Given the description of an element on the screen output the (x, y) to click on. 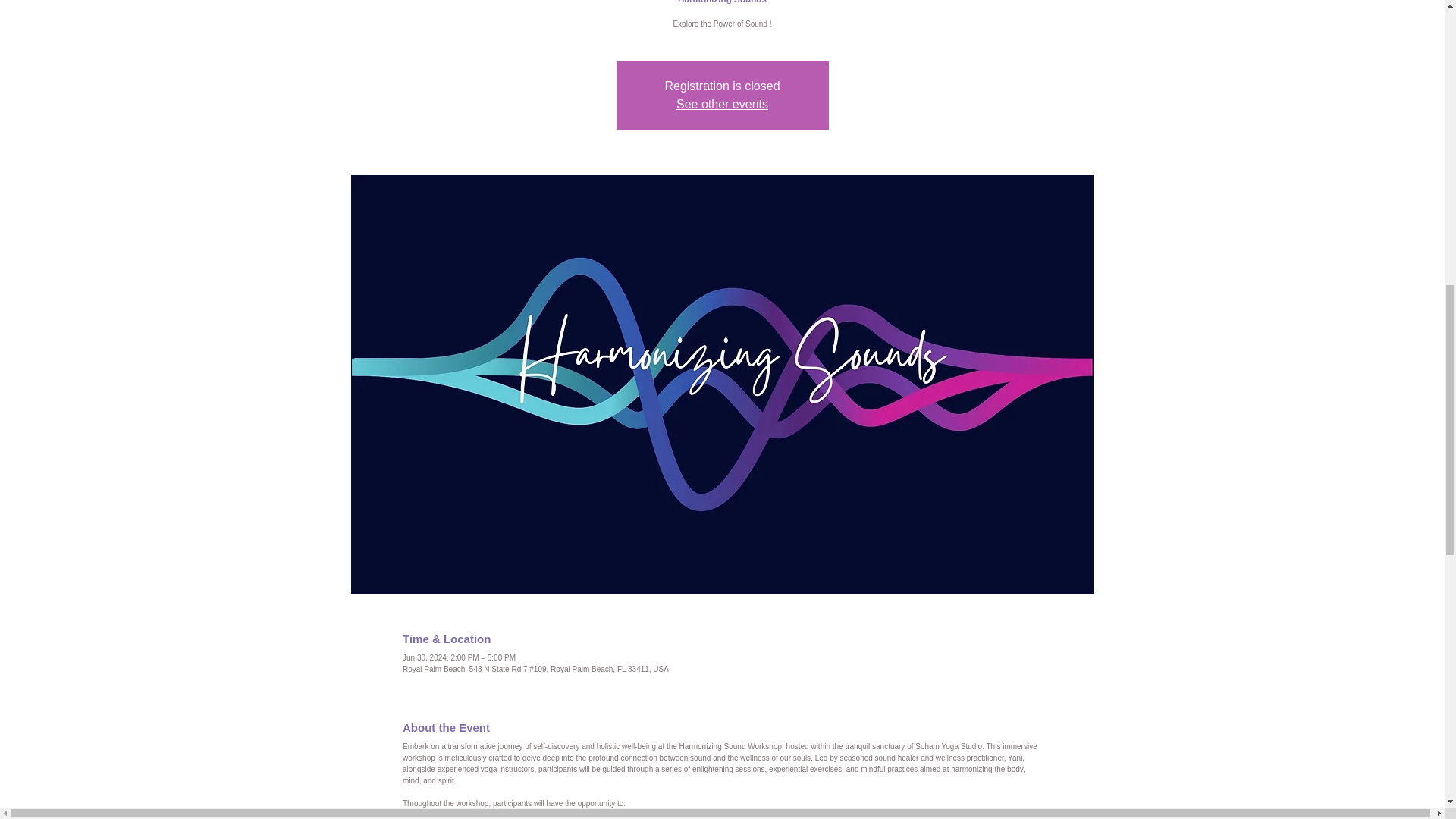
See other events (722, 103)
